Given the description of an element on the screen output the (x, y) to click on. 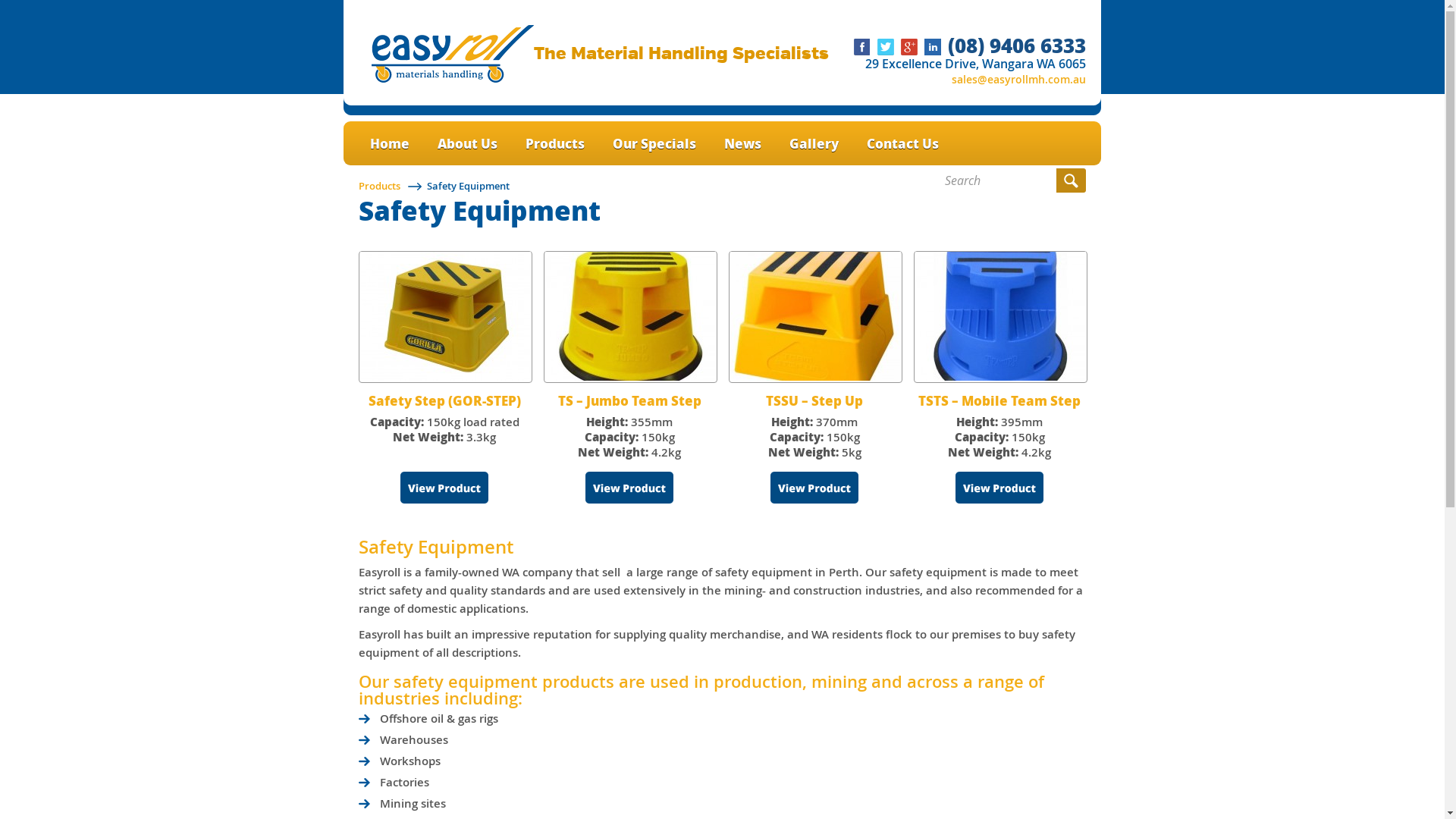
Safety Step (GOR-STEP) Element type: text (443, 400)
Easy Roll Materials Handling Element type: hover (452, 78)
Products Element type: text (554, 143)
Gallery Element type: text (813, 143)
News Element type: text (742, 143)
Our Specials Element type: text (654, 143)
Search Element type: text (1070, 180)
Home Element type: text (389, 143)
(08) 9406 6333 Element type: text (1016, 45)
Contact Us Element type: text (902, 143)
Products Element type: text (378, 185)
About Us Element type: text (467, 143)
sales@easyrollmh.com.au Element type: text (1018, 79)
